Given the description of an element on the screen output the (x, y) to click on. 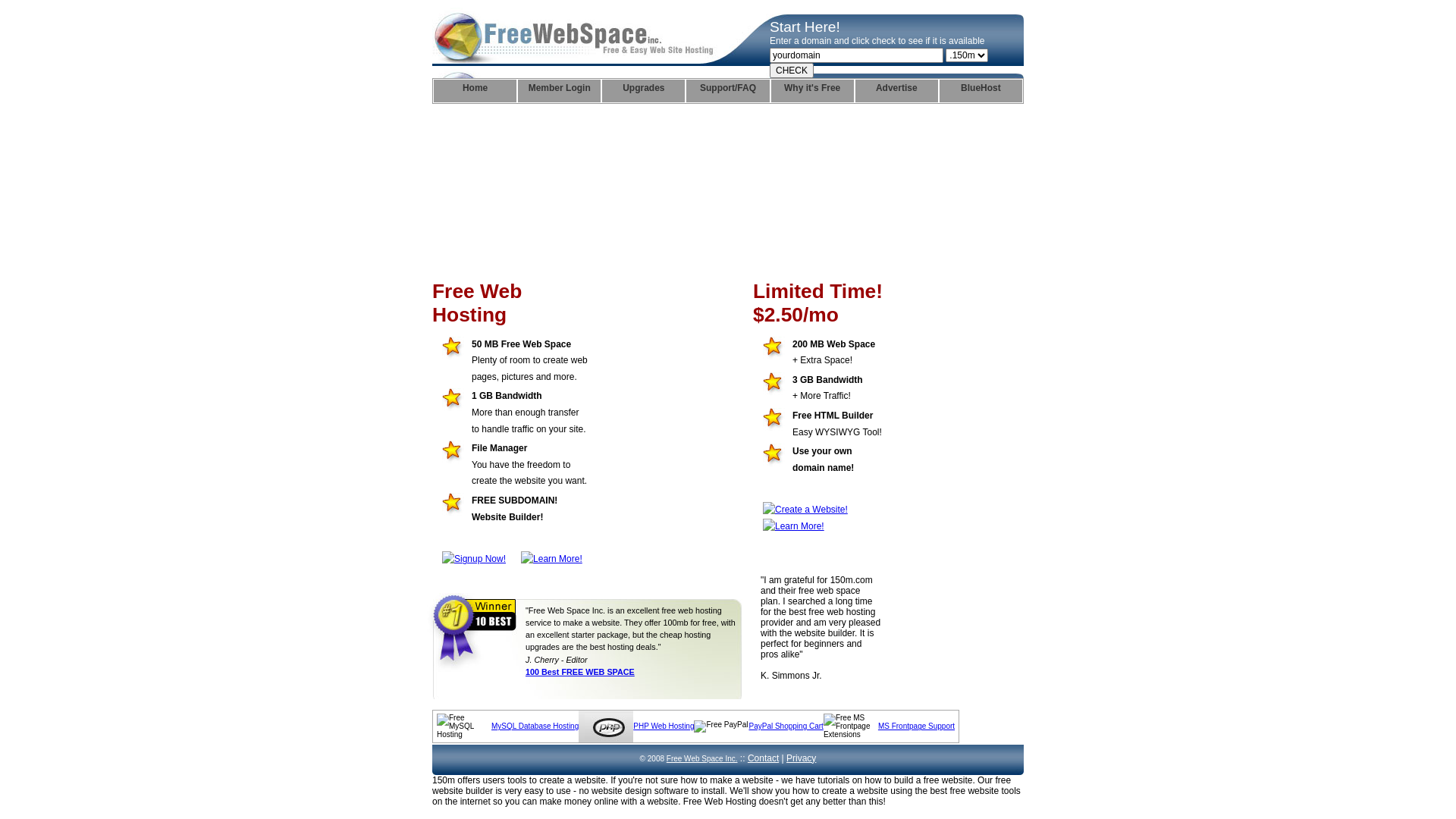
PHP Web Hosting Element type: text (663, 725)
Free Web Space Inc. Element type: text (701, 758)
Home Element type: text (474, 90)
Member Login Element type: text (558, 90)
Contact Element type: text (762, 758)
PayPal Shopping Cart Element type: text (785, 725)
Support/FAQ Element type: text (727, 90)
100 Best FREE WEB SPACE Element type: text (579, 671)
Advertise Element type: text (896, 90)
Privacy Element type: text (800, 758)
Why it's Free Element type: text (812, 90)
CHECK Element type: text (791, 70)
MS Frontpage Support Element type: text (916, 725)
BlueHost Element type: text (980, 90)
MySQL Database Hosting Element type: text (534, 725)
Upgrades Element type: text (643, 90)
